Given the description of an element on the screen output the (x, y) to click on. 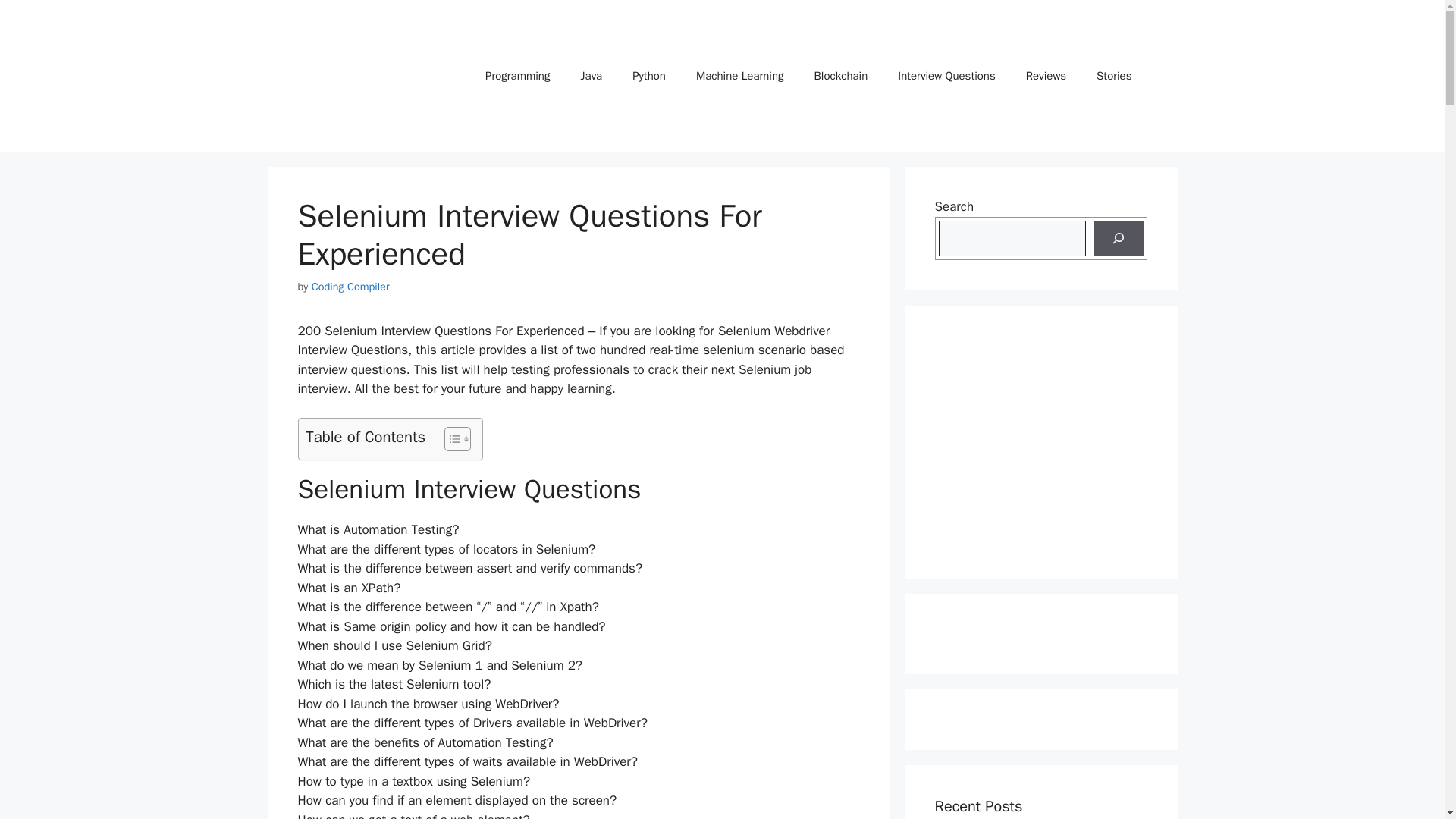
Programming (517, 75)
Download This Theme (946, 75)
Python (649, 75)
Interview Questions (946, 75)
Blockchain (841, 75)
Stories (1114, 75)
Coding Compiler (350, 286)
Reviews (1045, 75)
Java (590, 75)
Machine Learning (740, 75)
View all posts by Coding Compiler (350, 286)
More info on ColorMag theme (517, 75)
